Given the description of an element on the screen output the (x, y) to click on. 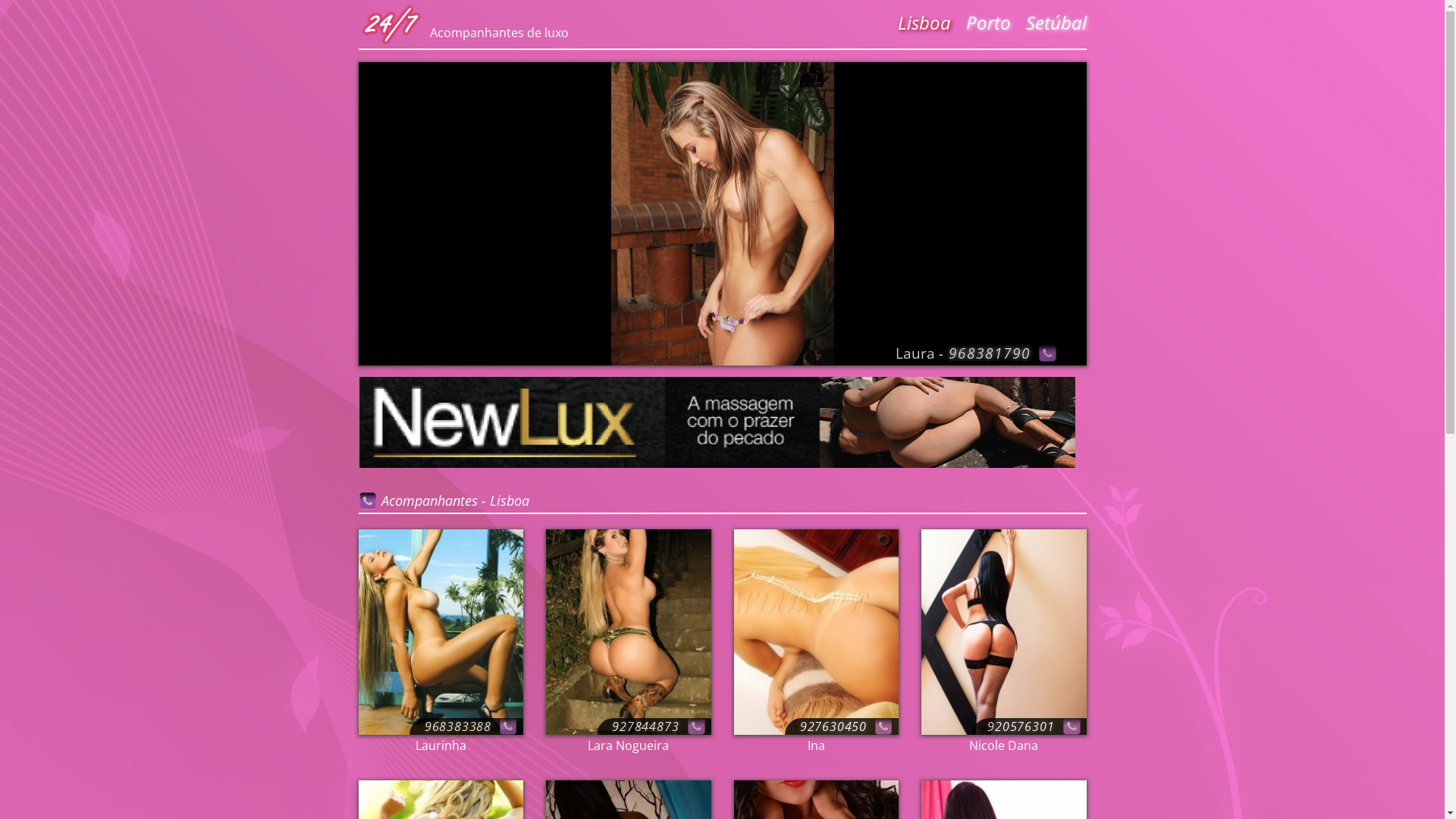
Laurinha Element type: text (440, 745)
927630450 Element type: text (846, 726)
Porto Element type: text (988, 21)
Lara Nogueira Element type: text (627, 745)
Laura968381790 Element type: text (975, 352)
Nicole Dana Element type: text (1003, 745)
Nicole Dana, 920576301 - acompanhante de luxo - Lisboa Element type: hover (1003, 632)
968383388 Element type: text (470, 726)
Laura, 968381790 - acompanhante de luxo - Lisboa Element type: hover (721, 213)
Ina, 927630450 - acompanhante de luxo - Lisboa Element type: hover (816, 632)
Lisboa Element type: text (923, 21)
920576301 Element type: text (1033, 726)
New Lux Element type: hover (715, 415)
927844873 Element type: text (657, 726)
Laurinha, 968383388 - acompanhante de luxo - Lisboa Element type: hover (440, 632)
Lara Nogueira, 927844873 - acompanhante de luxo - Lisboa Element type: hover (628, 632)
www.24sobre7.com Element type: hover (391, 23)
Ina Element type: text (816, 745)
